Given the description of an element on the screen output the (x, y) to click on. 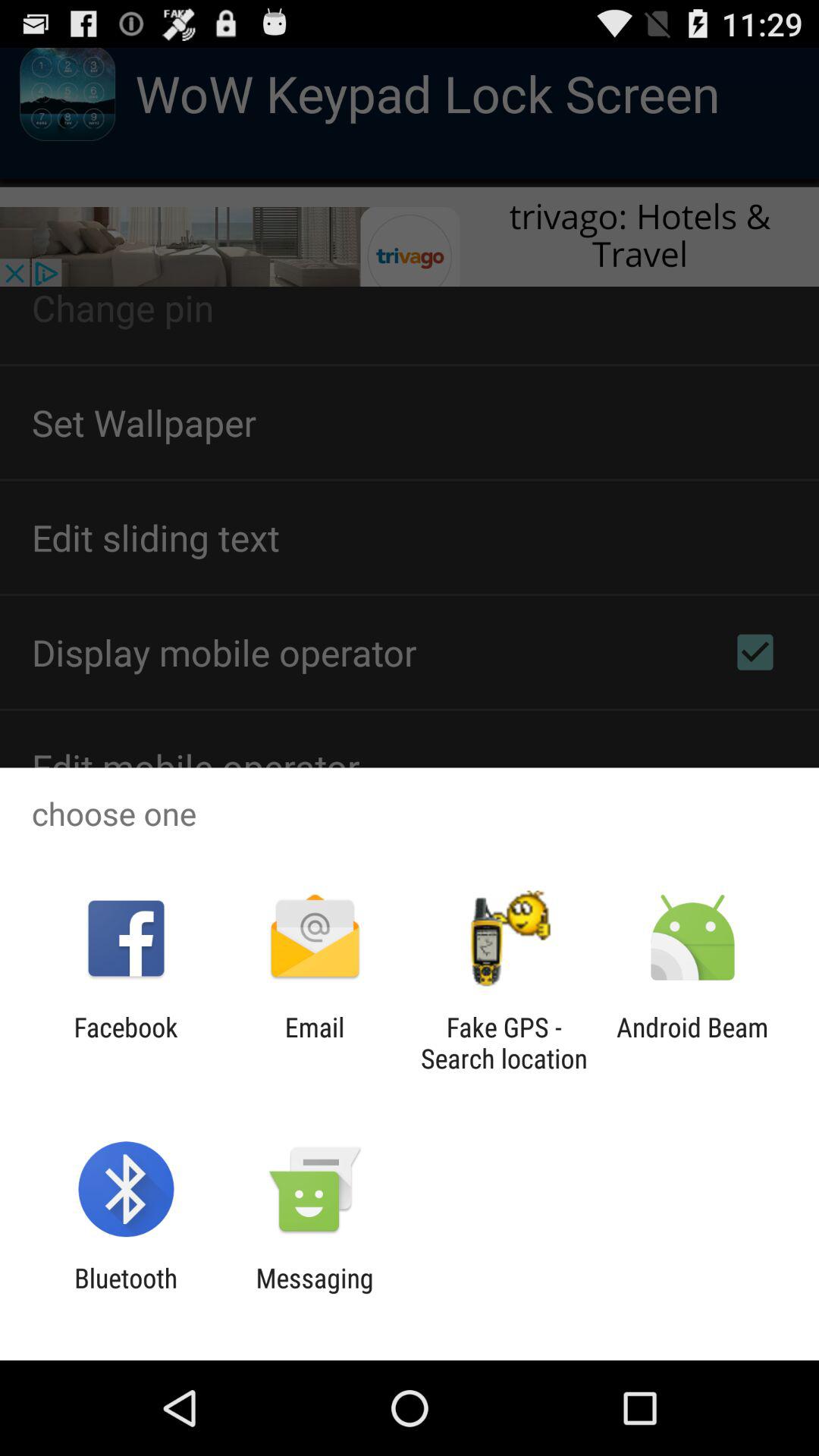
swipe until the email app (314, 1042)
